Given the description of an element on the screen output the (x, y) to click on. 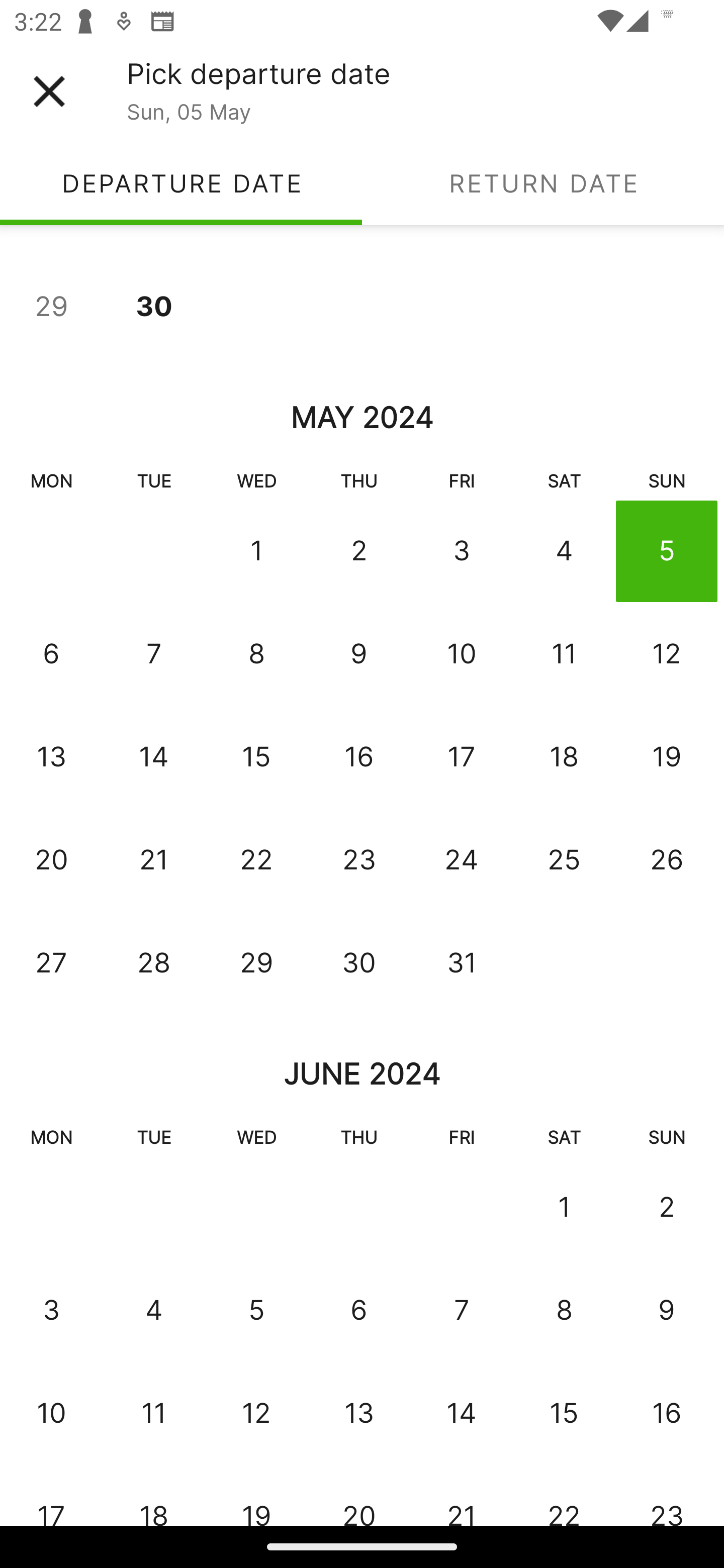
Return Date RETURN DATE (543, 183)
